Given the description of an element on the screen output the (x, y) to click on. 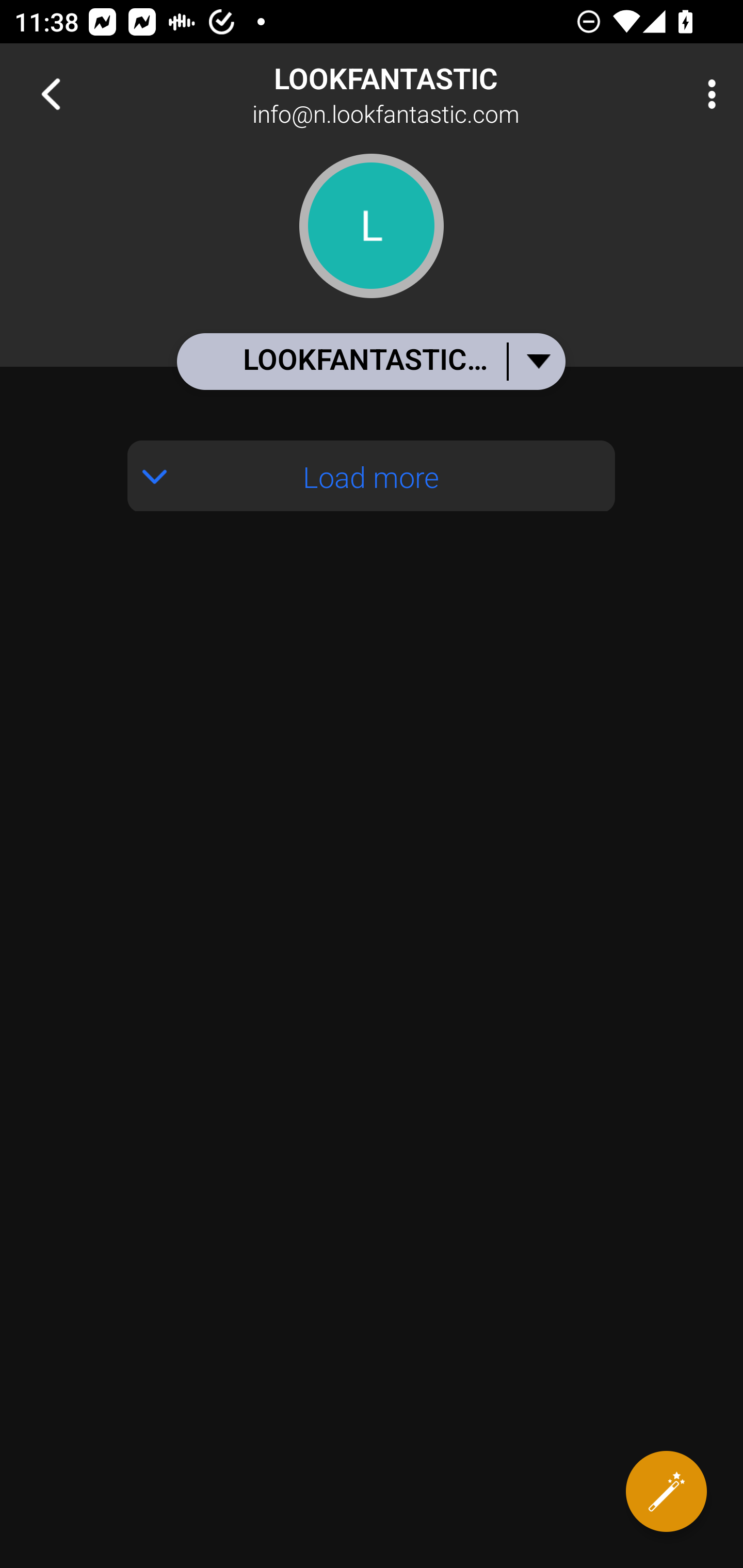
Navigate up (50, 93)
LOOKFANTASTIC info@n.lookfantastic.com (436, 93)
More Options (706, 93)
LOOKFANTASTIC & You (370, 361)
Load more (371, 475)
